Given the description of an element on the screen output the (x, y) to click on. 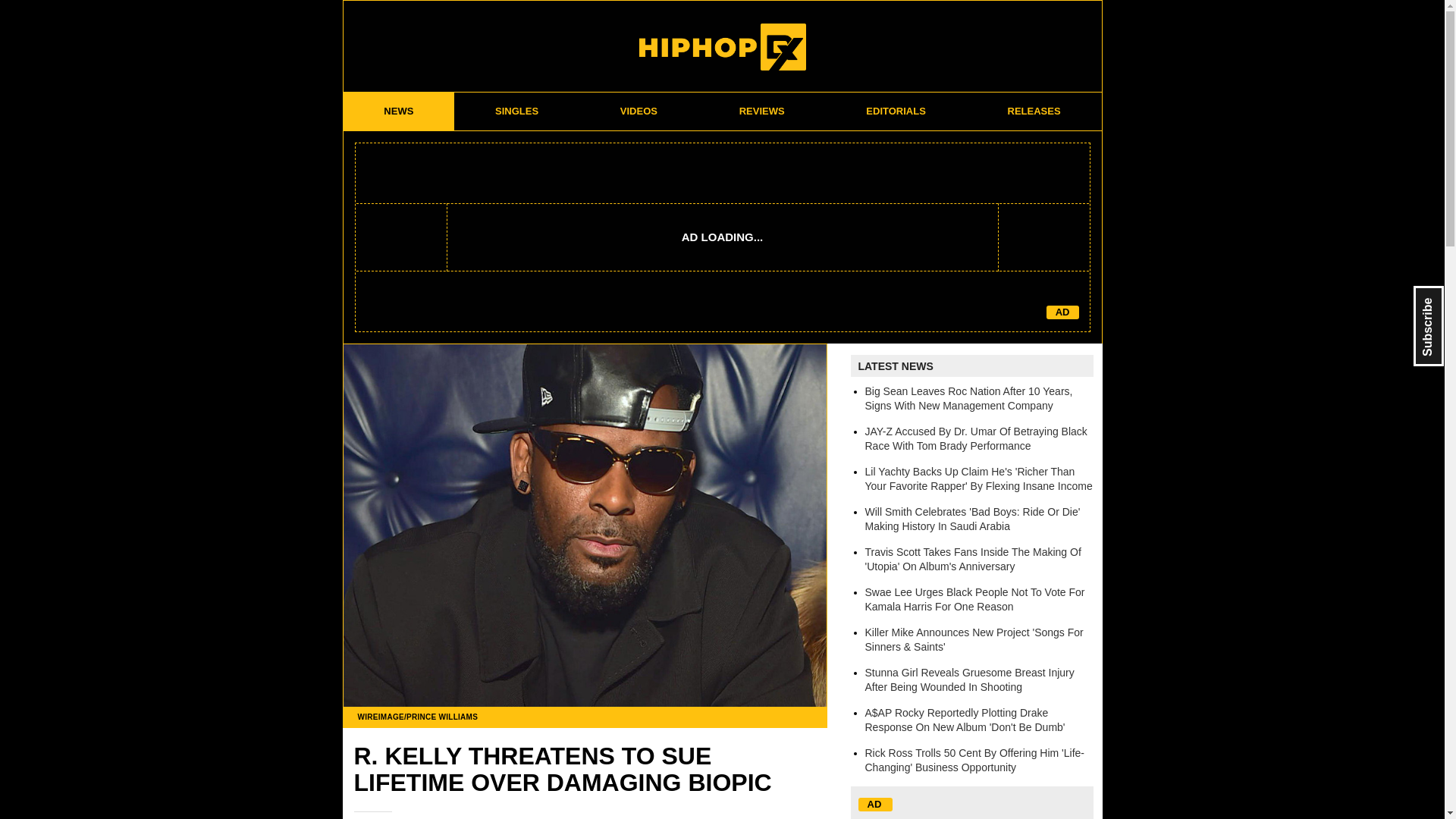
REVIEWS (761, 111)
NEWS (398, 111)
EDITORIALS (895, 111)
SINGLES (516, 111)
RELEASES (1034, 111)
VIDEOS (638, 111)
